Given the description of an element on the screen output the (x, y) to click on. 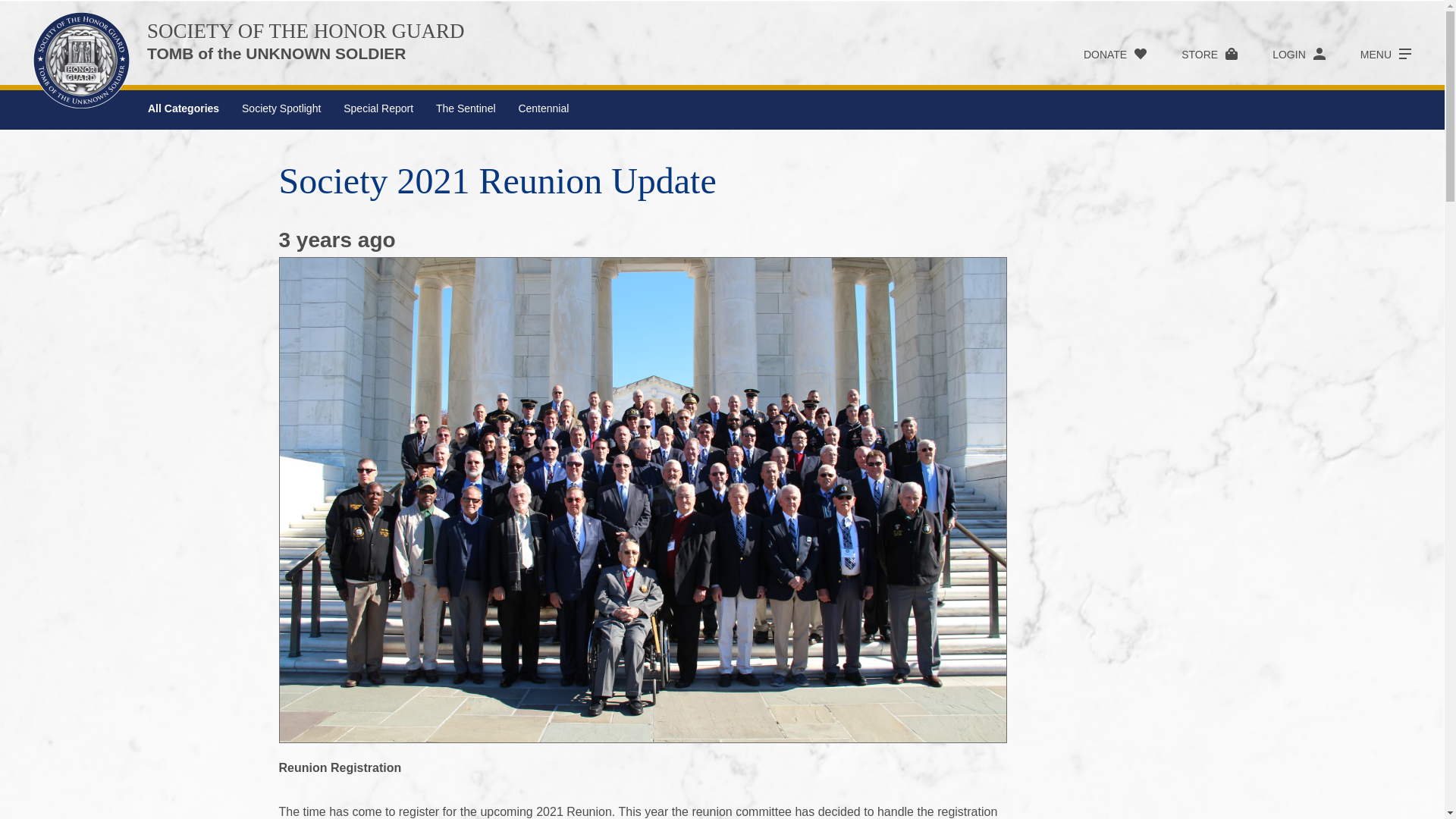
STORE (1192, 53)
LOGIN (1280, 53)
Centennial (543, 108)
MENU (1367, 53)
DONATE (1097, 53)
All Categories (183, 108)
Special Report (378, 108)
Society Spotlight (280, 108)
The Sentinel (465, 108)
